Given the description of an element on the screen output the (x, y) to click on. 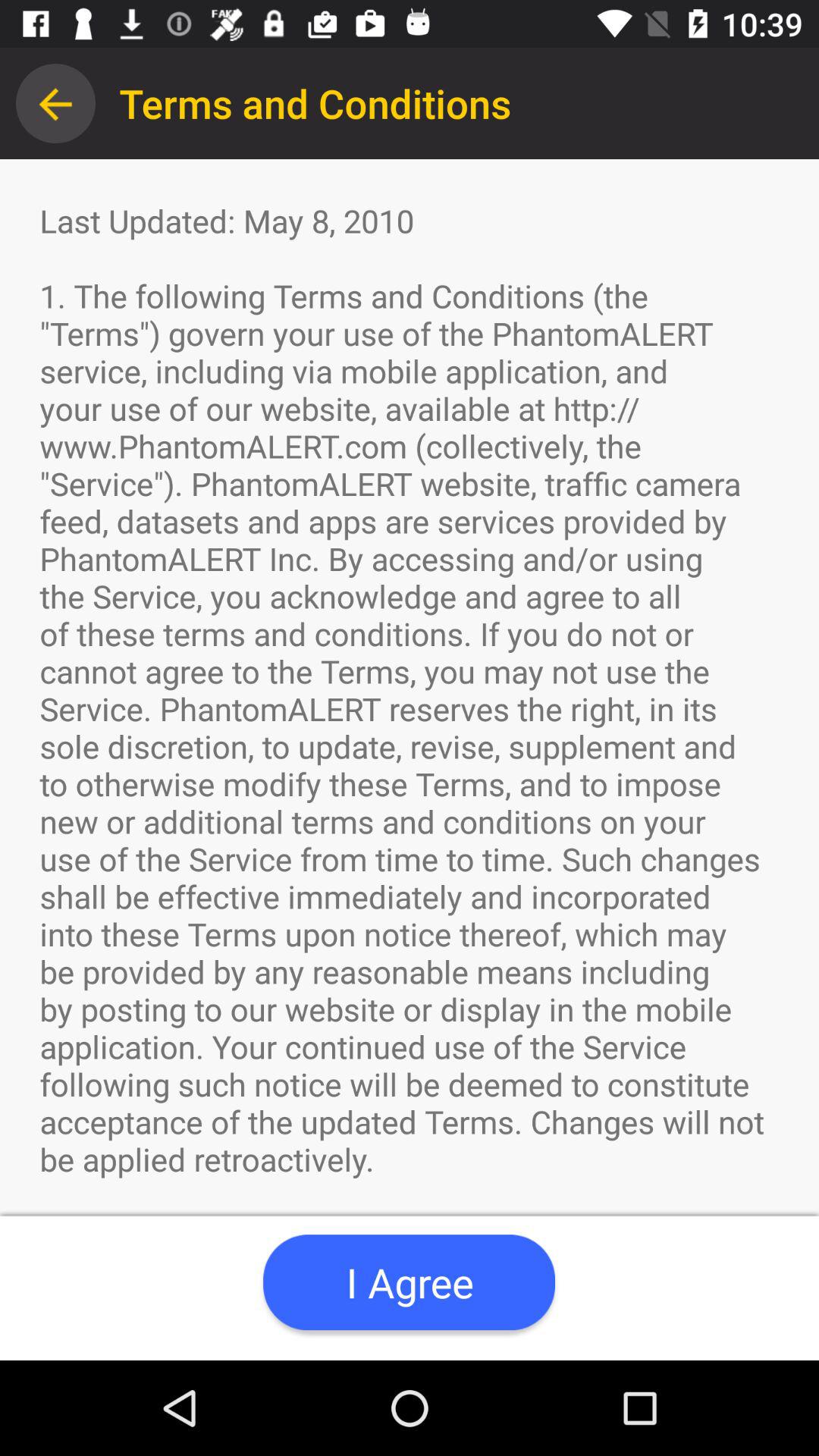
turn off item to the left of the terms and conditions app (55, 103)
